Given the description of an element on the screen output the (x, y) to click on. 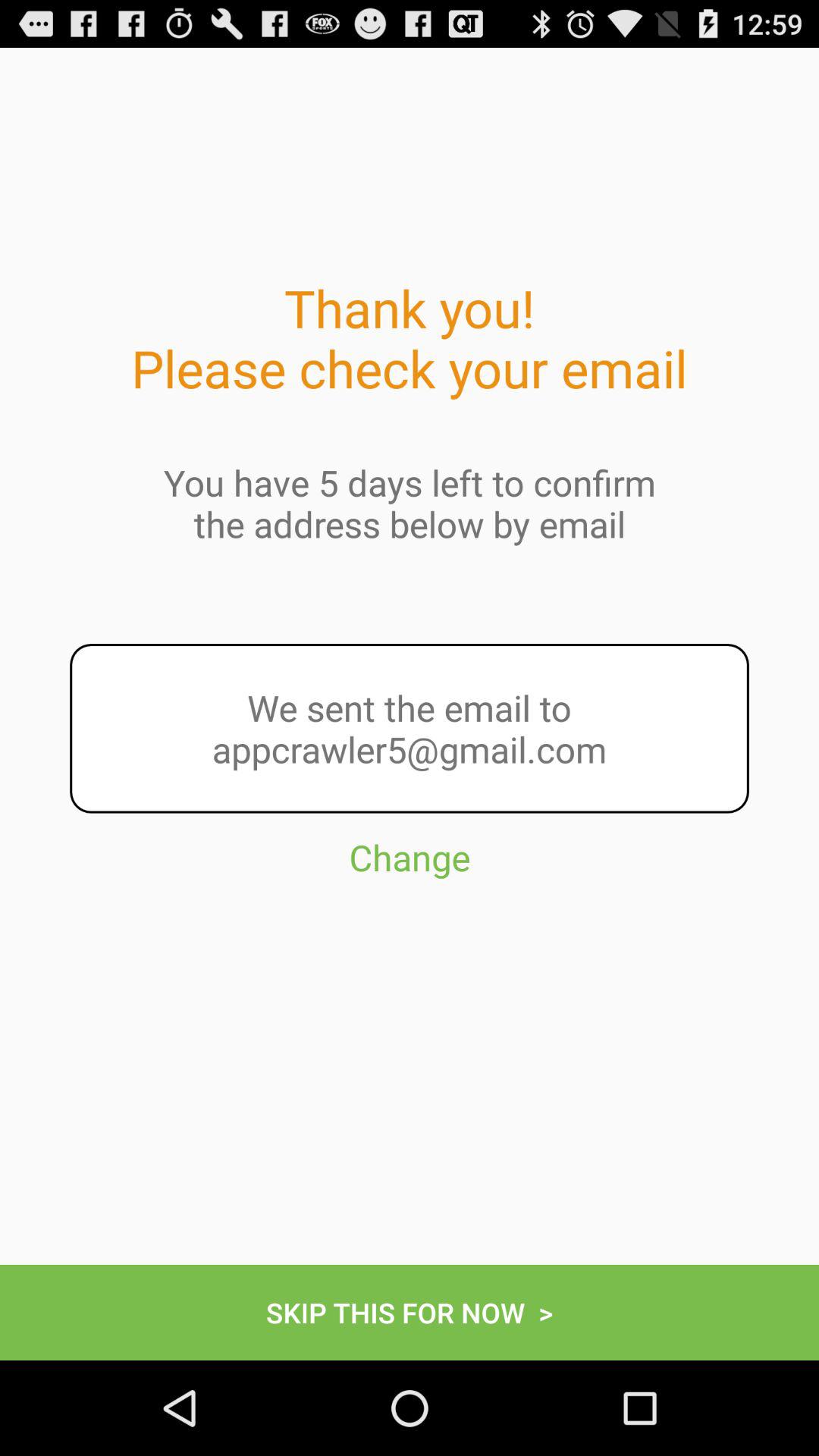
launch icon at the bottom (409, 1312)
